Given the description of an element on the screen output the (x, y) to click on. 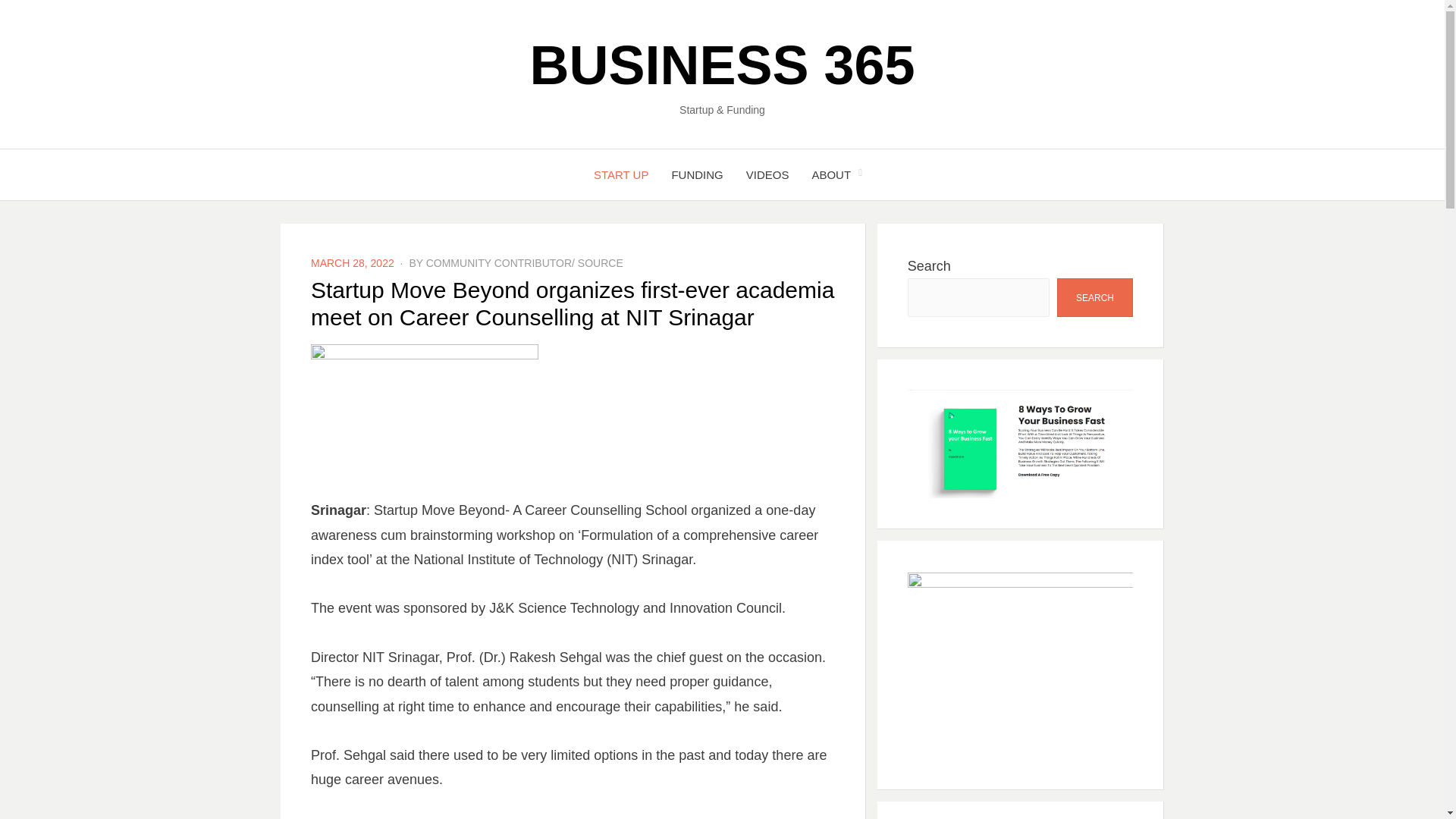
BUSINESS 365 (721, 65)
START UP (621, 174)
Business 365 (721, 65)
VIDEOS (767, 174)
ABOUT (830, 174)
SEARCH (1094, 297)
FUNDING (696, 174)
MARCH 28, 2022 (352, 263)
